Given the description of an element on the screen output the (x, y) to click on. 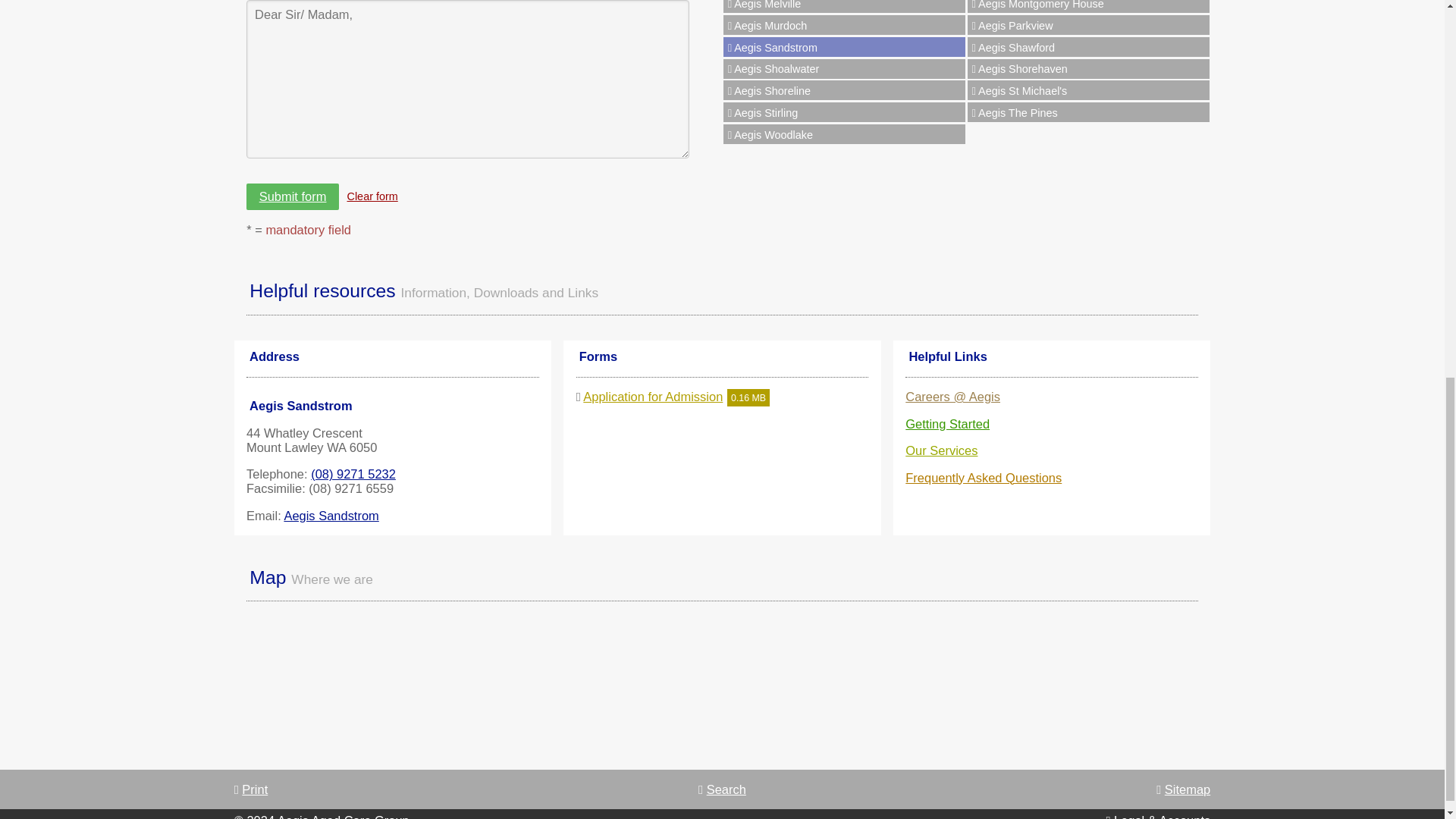
Aegis Murdoch (844, 25)
Search (721, 789)
Aegis Parkview (1088, 25)
Print (250, 789)
Aegis Montgomery House (1088, 6)
Aegis Melville (844, 6)
Clear form (372, 196)
Sitemap (1182, 789)
Submit form (292, 196)
